Given the description of an element on the screen output the (x, y) to click on. 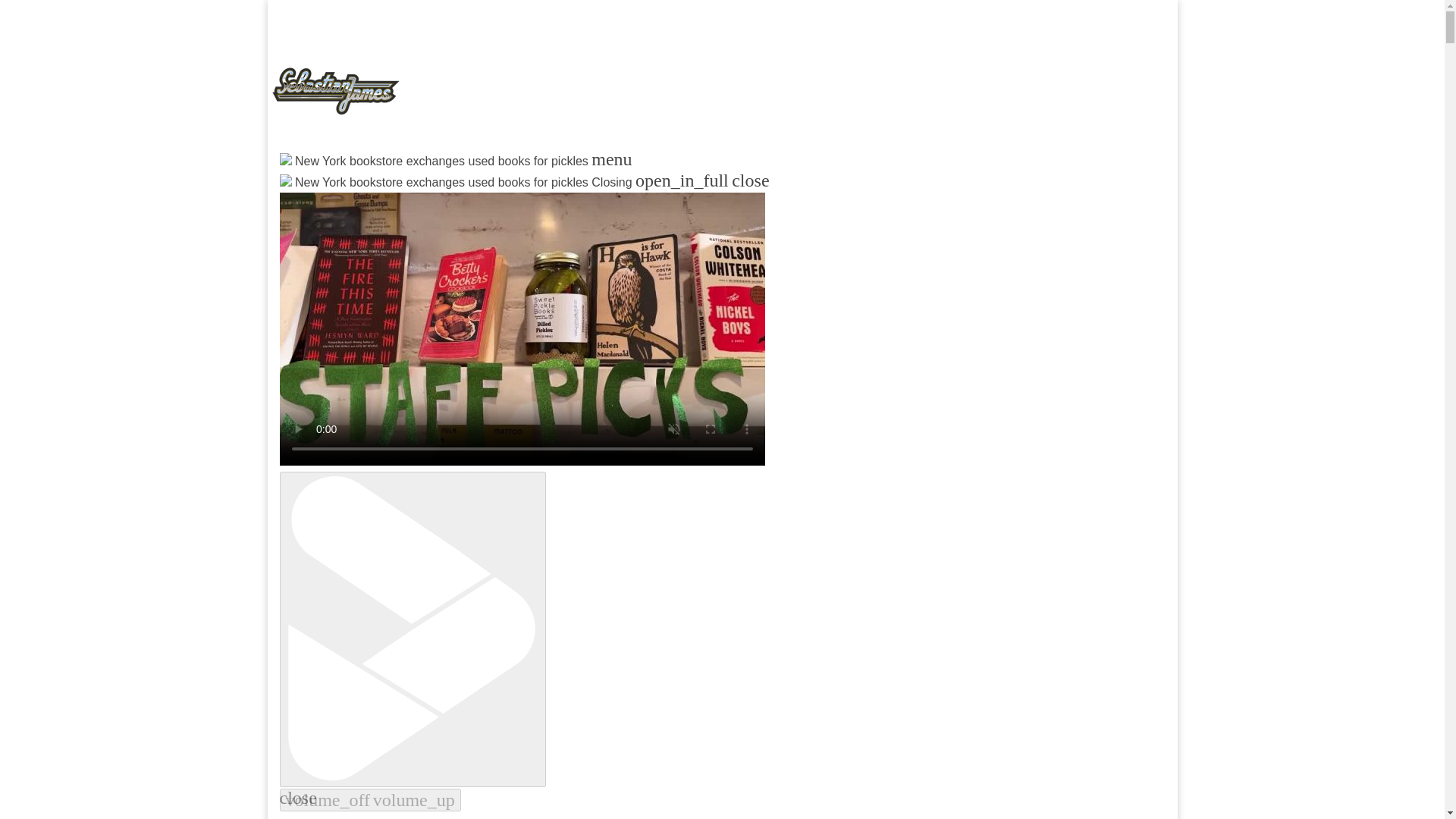
Skope Entertainment Inc (462, 198)
Skope Entertainment Inc (462, 198)
